Given the description of an element on the screen output the (x, y) to click on. 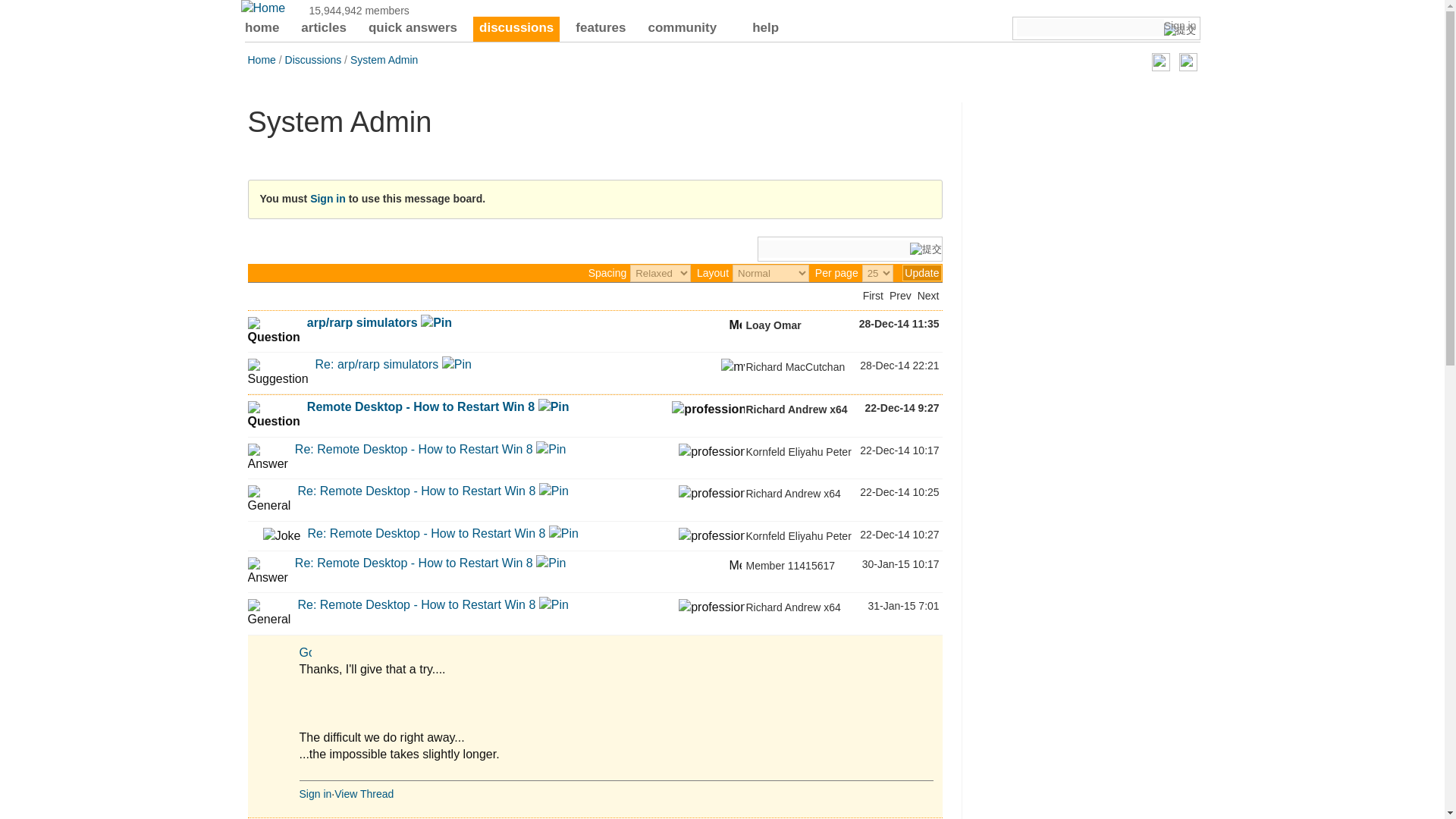
Click to pin message (456, 364)
articles (323, 29)
Sign in (1179, 25)
Most Valuable Expert (732, 366)
Click to pin message (435, 322)
Update (921, 272)
discussions (516, 29)
Member (735, 322)
Question (273, 330)
Question (273, 415)
quick answers (412, 29)
Suggestion (277, 372)
CodeProject (263, 8)
home (261, 29)
